Given the description of an element on the screen output the (x, y) to click on. 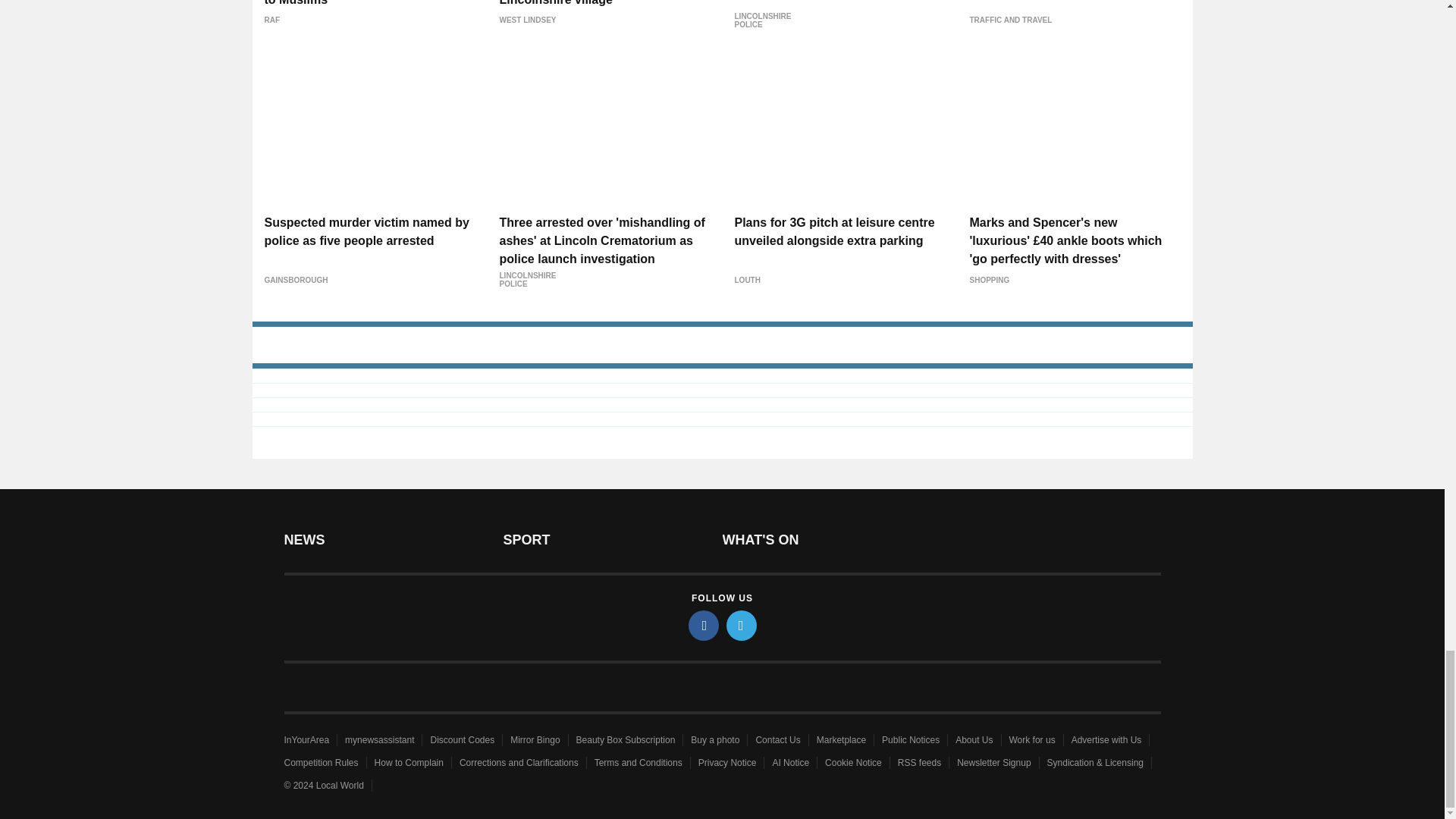
twitter (741, 625)
facebook (703, 625)
